Given the description of an element on the screen output the (x, y) to click on. 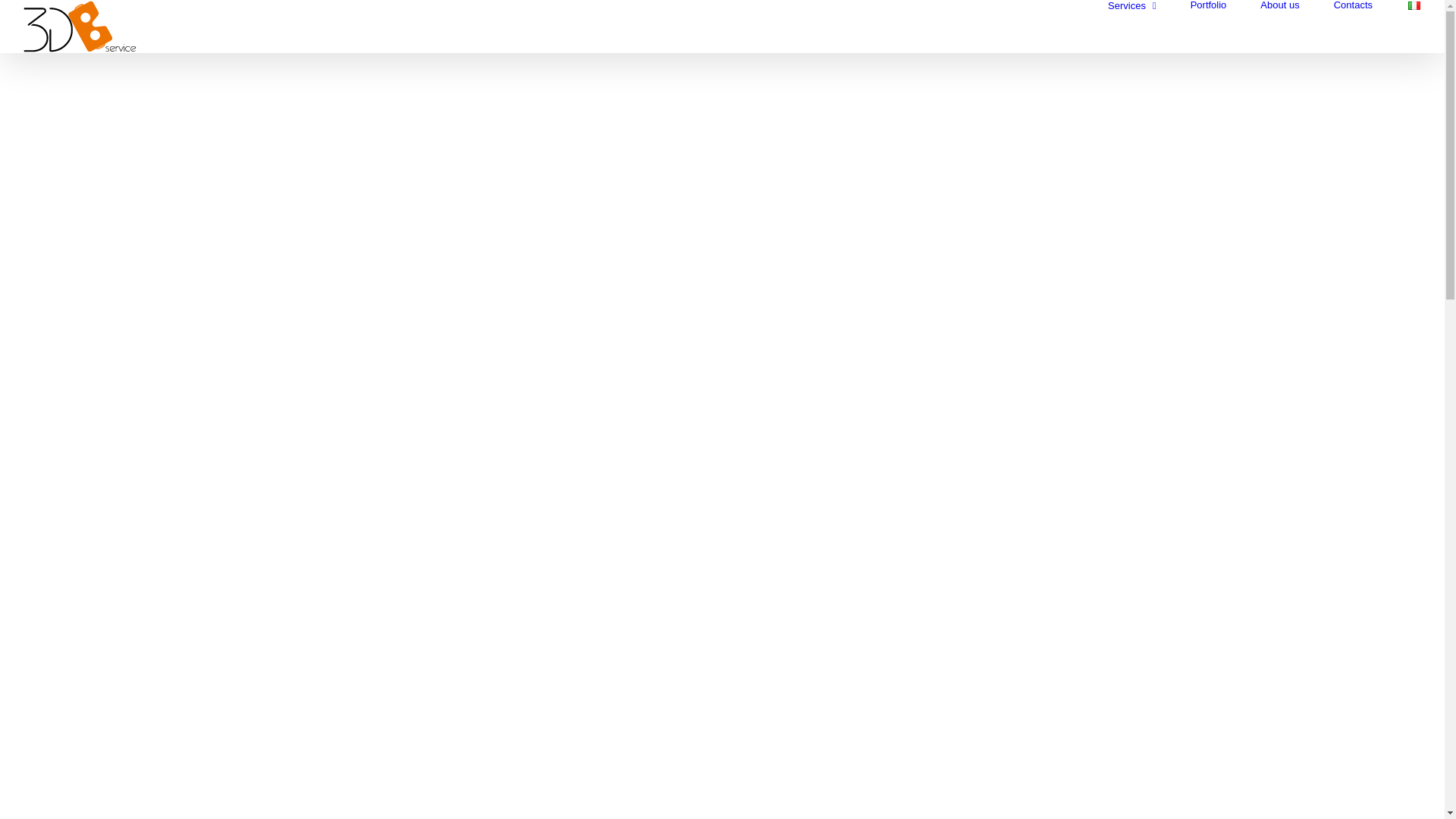
Italiano Element type: hover (1413, 5)
About us Element type: text (1279, 4)
Portfolio Element type: text (1208, 4)
Services Element type: text (1131, 5)
Contacts Element type: text (1352, 4)
